Given the description of an element on the screen output the (x, y) to click on. 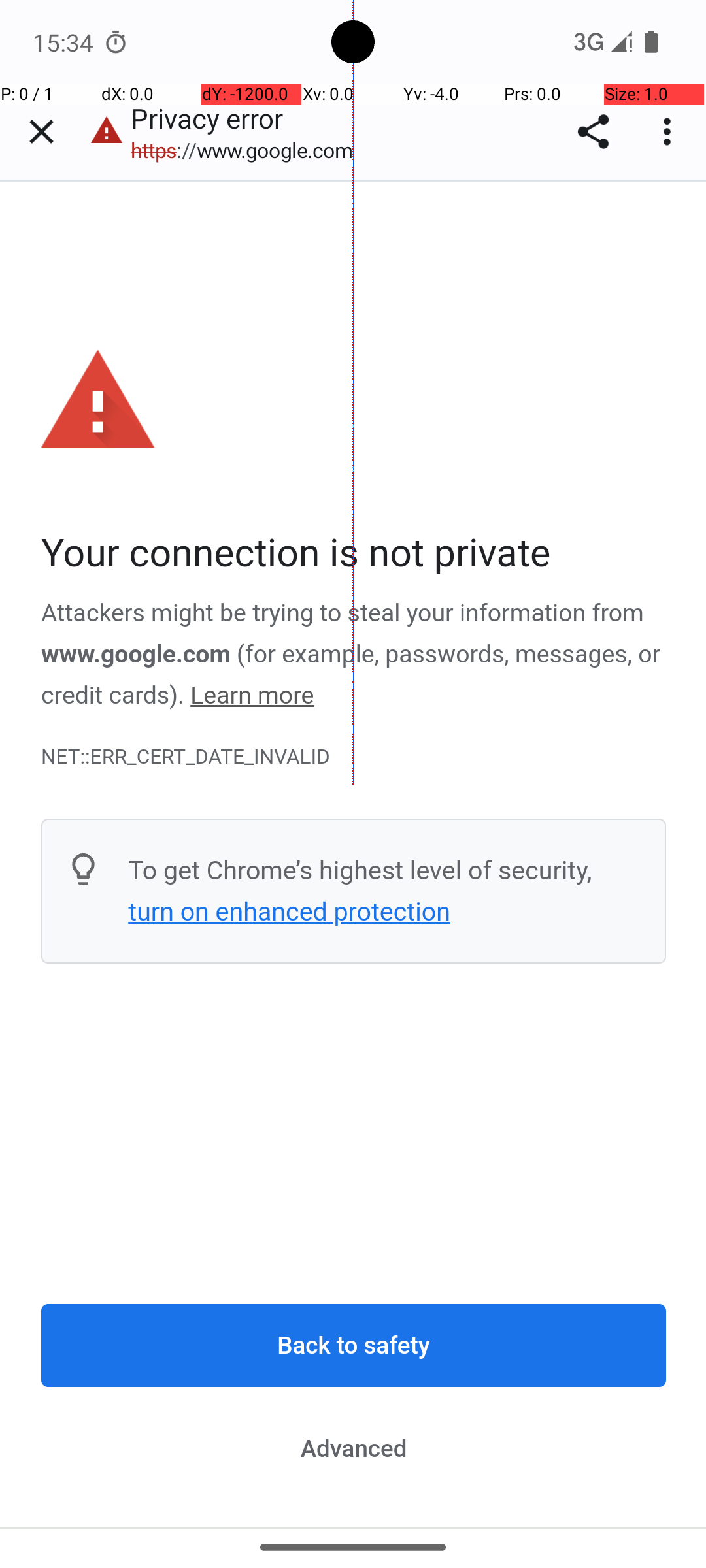
https://www.google.com Element type: android.widget.TextView (248, 149)
www.google.com Element type: android.widget.TextView (136, 653)
